Given the description of an element on the screen output the (x, y) to click on. 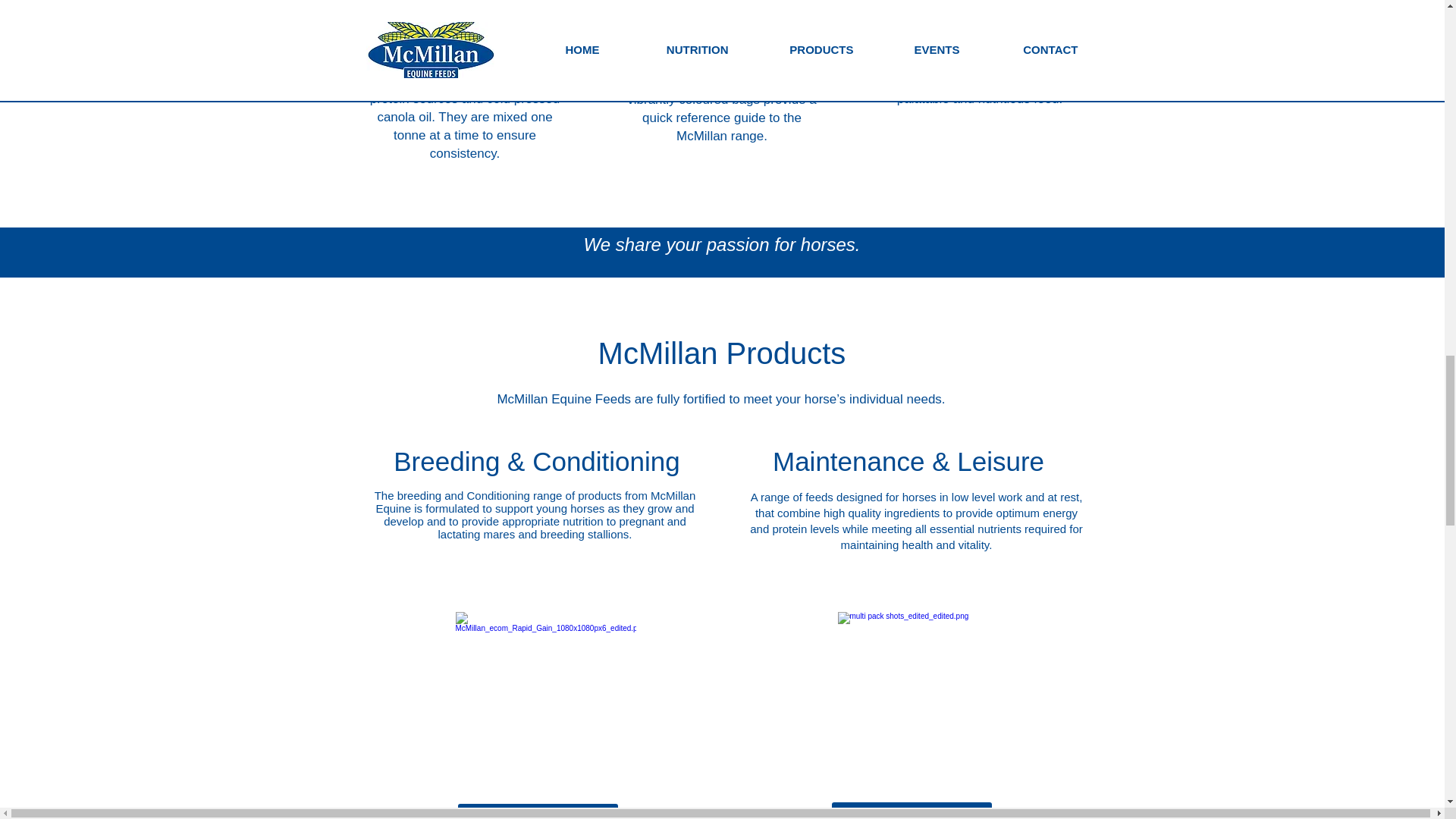
VIEW PRODUCTS (538, 810)
VIEW PRODUCTS (910, 809)
